Given the description of an element on the screen output the (x, y) to click on. 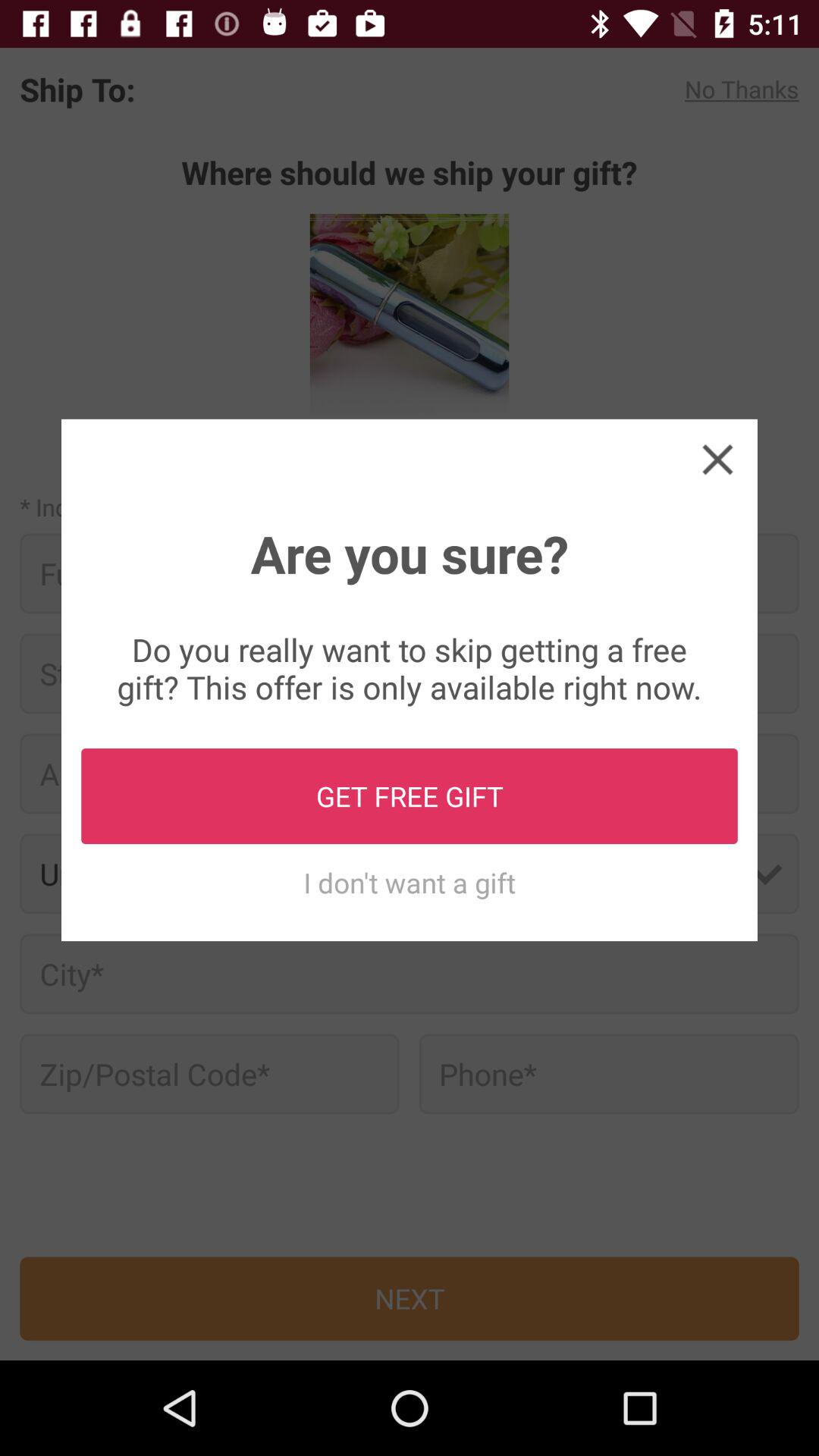
flip to i don t (409, 882)
